Given the description of an element on the screen output the (x, y) to click on. 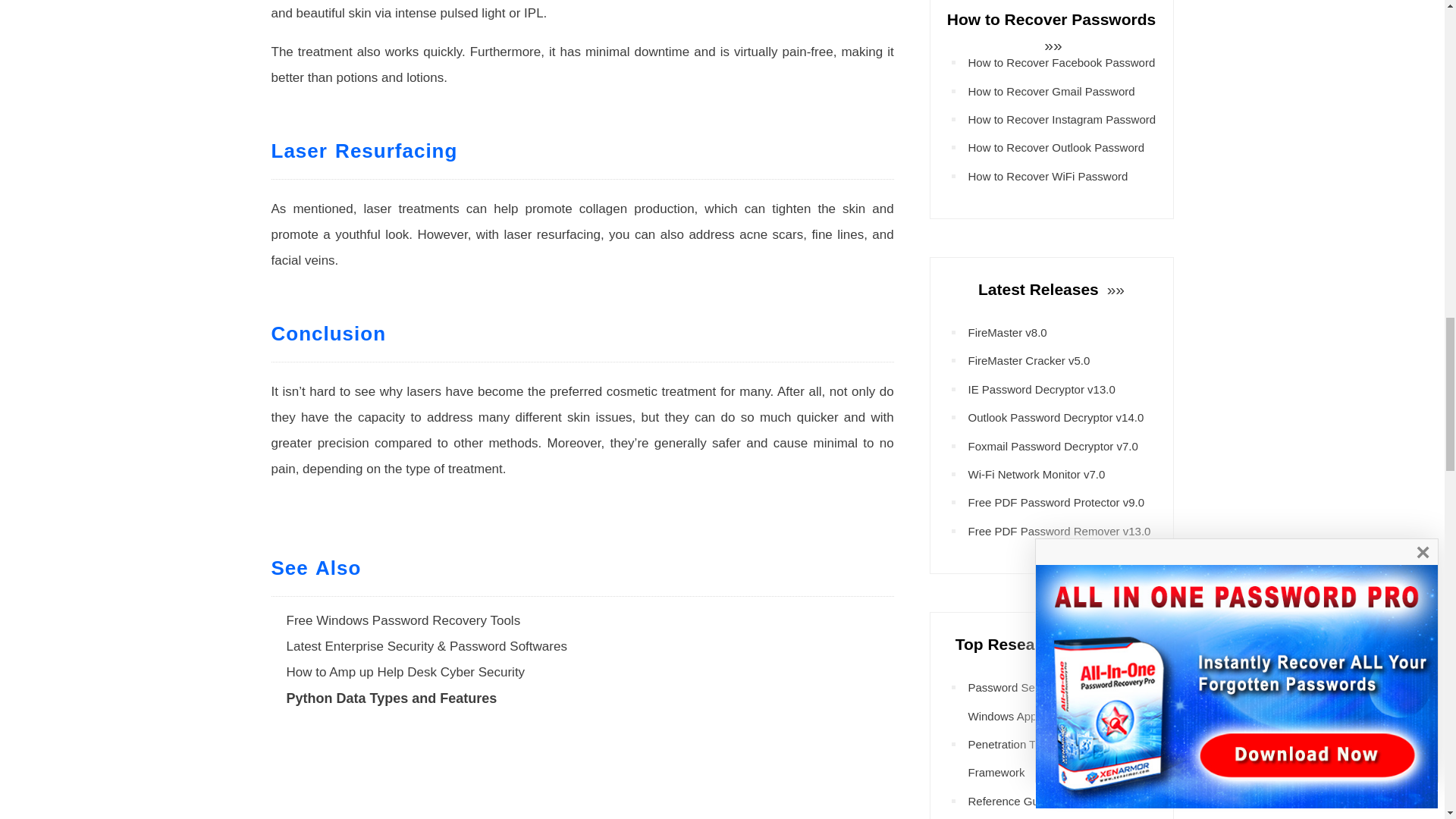
Python Data Types and Features (391, 698)
How to Amp up Help Desk Cyber Security (405, 672)
Free Windows Password Recovery Tools (403, 620)
See More... (1136, 643)
See More... (1113, 289)
See More... (1051, 45)
